Given the description of an element on the screen output the (x, y) to click on. 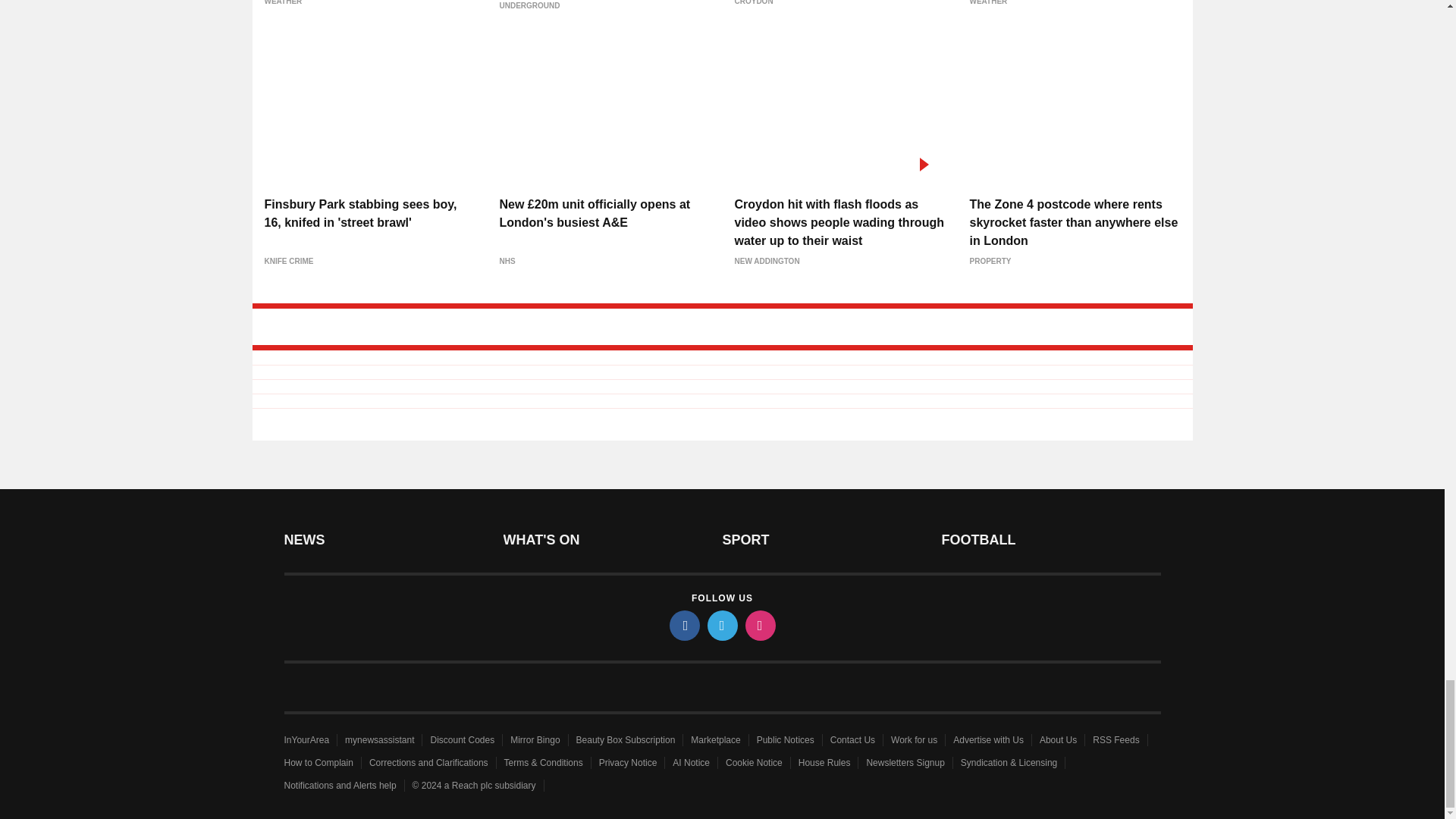
instagram (759, 625)
twitter (721, 625)
facebook (683, 625)
